Given the description of an element on the screen output the (x, y) to click on. 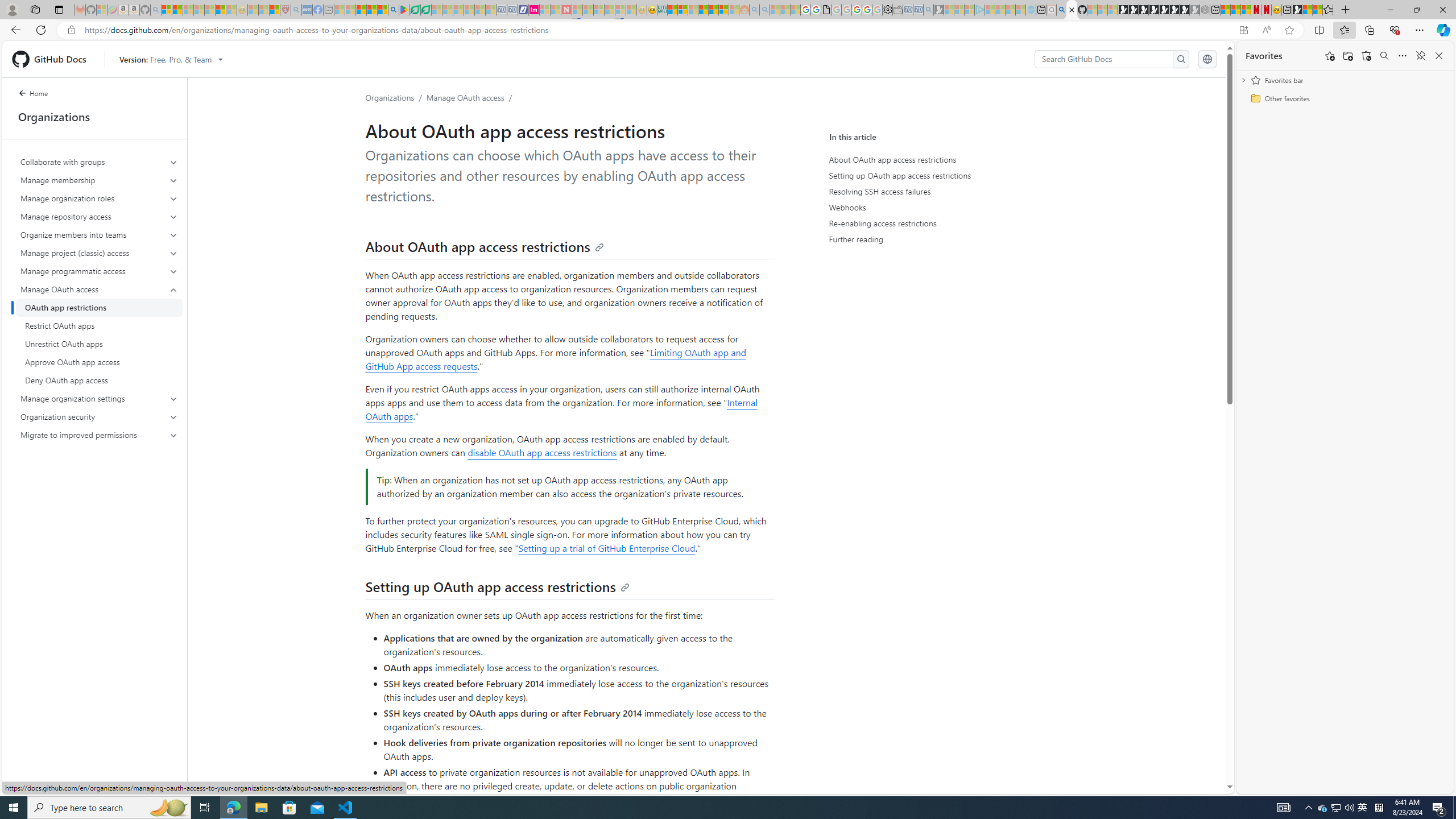
Manage programmatic access (99, 271)
Limiting OAuth app and GitHub App access requests (555, 359)
